Given the description of an element on the screen output the (x, y) to click on. 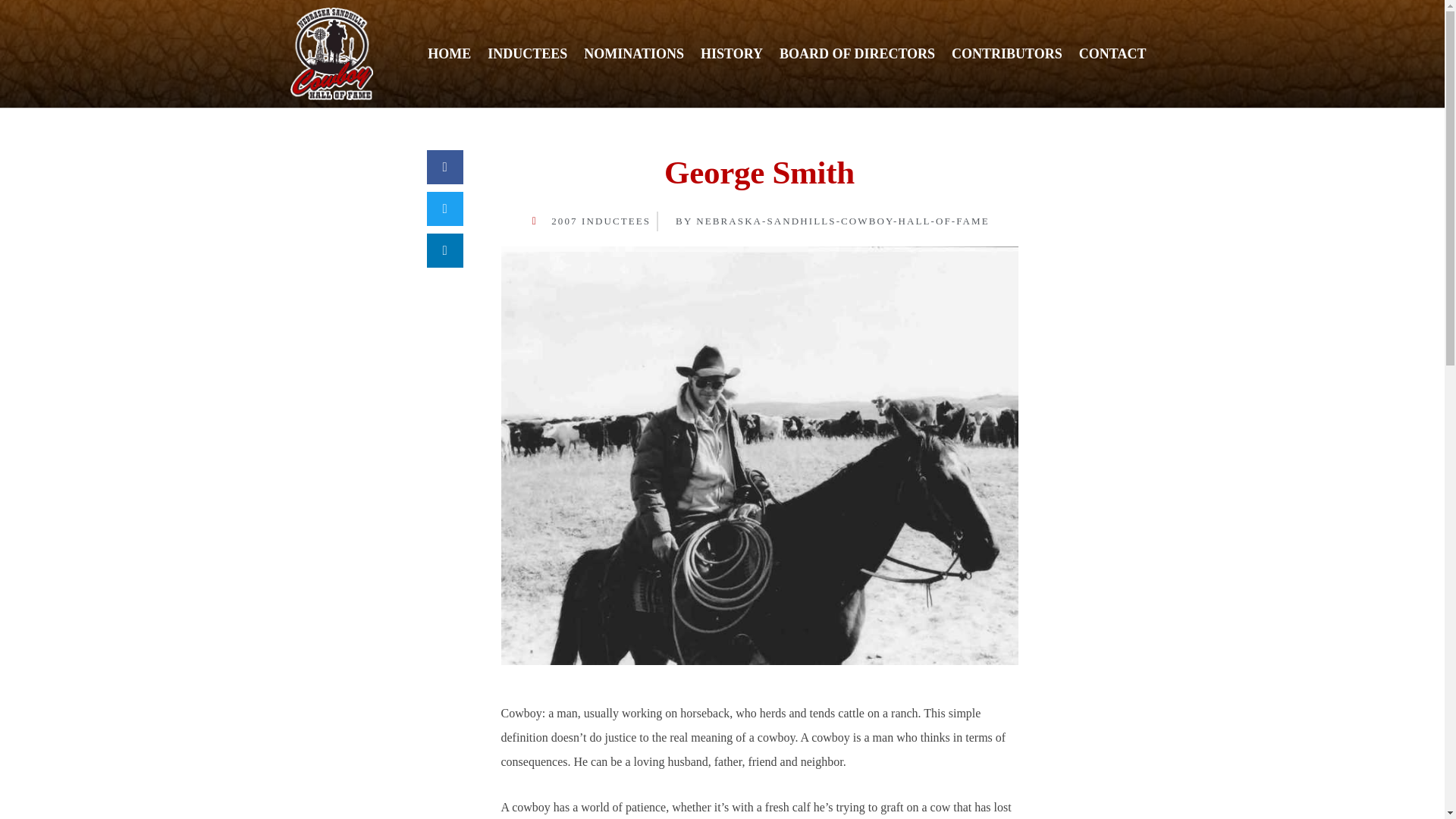
CONTRIBUTORS (1006, 53)
HOME (449, 53)
NOMINATIONS (634, 53)
BOARD OF DIRECTORS (857, 53)
CONTACT (1112, 53)
HISTORY (732, 53)
INDUCTEES (527, 53)
